Given the description of an element on the screen output the (x, y) to click on. 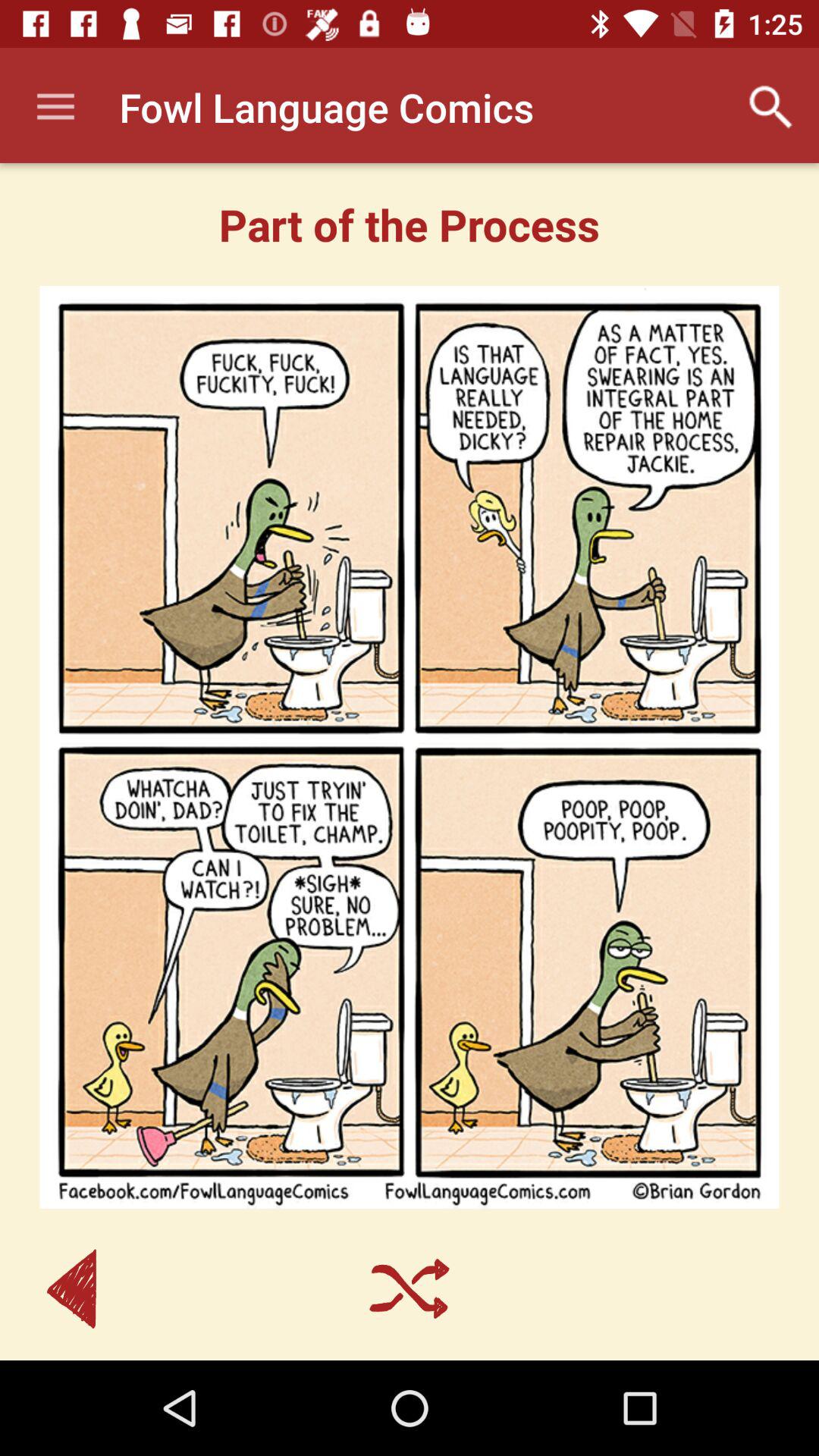
tap app to the left of fowl language comics item (55, 107)
